Given the description of an element on the screen output the (x, y) to click on. 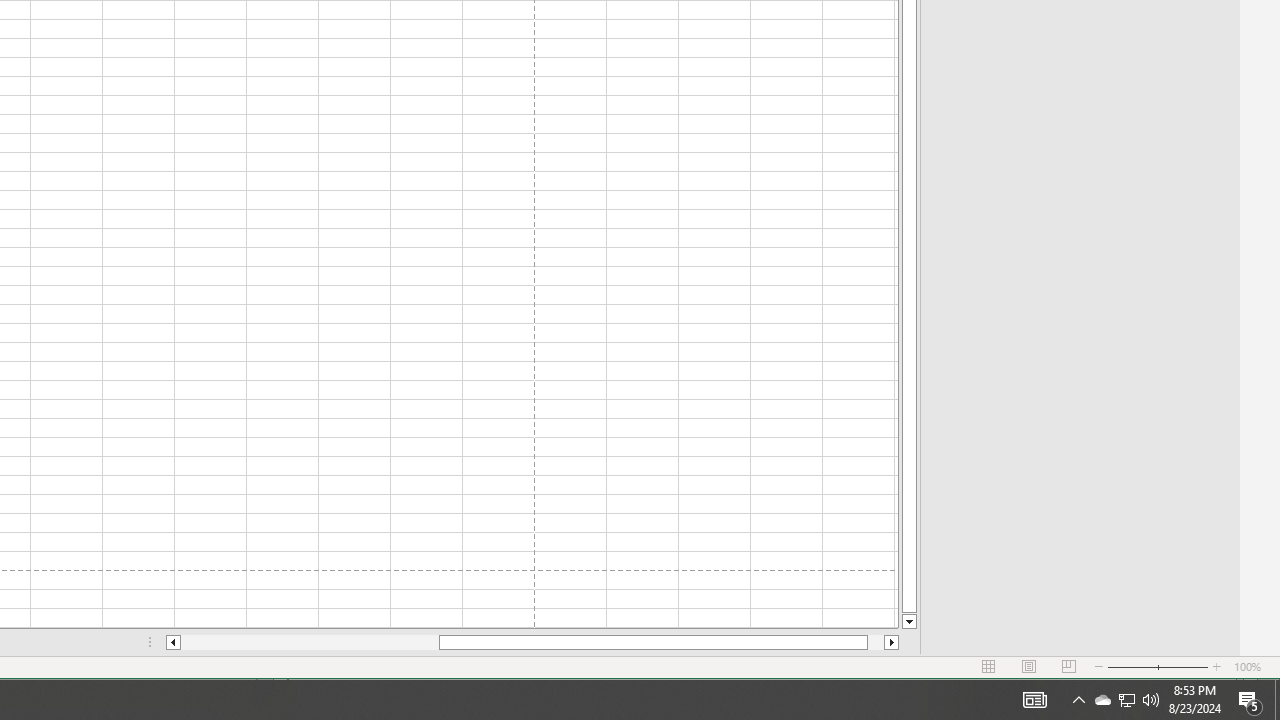
Notification Chevron (1078, 699)
Line down (909, 622)
Q2790: 100% (1151, 699)
Zoom (1158, 667)
Page right (875, 642)
Class: NetUIScrollBar (532, 642)
